Given the description of an element on the screen output the (x, y) to click on. 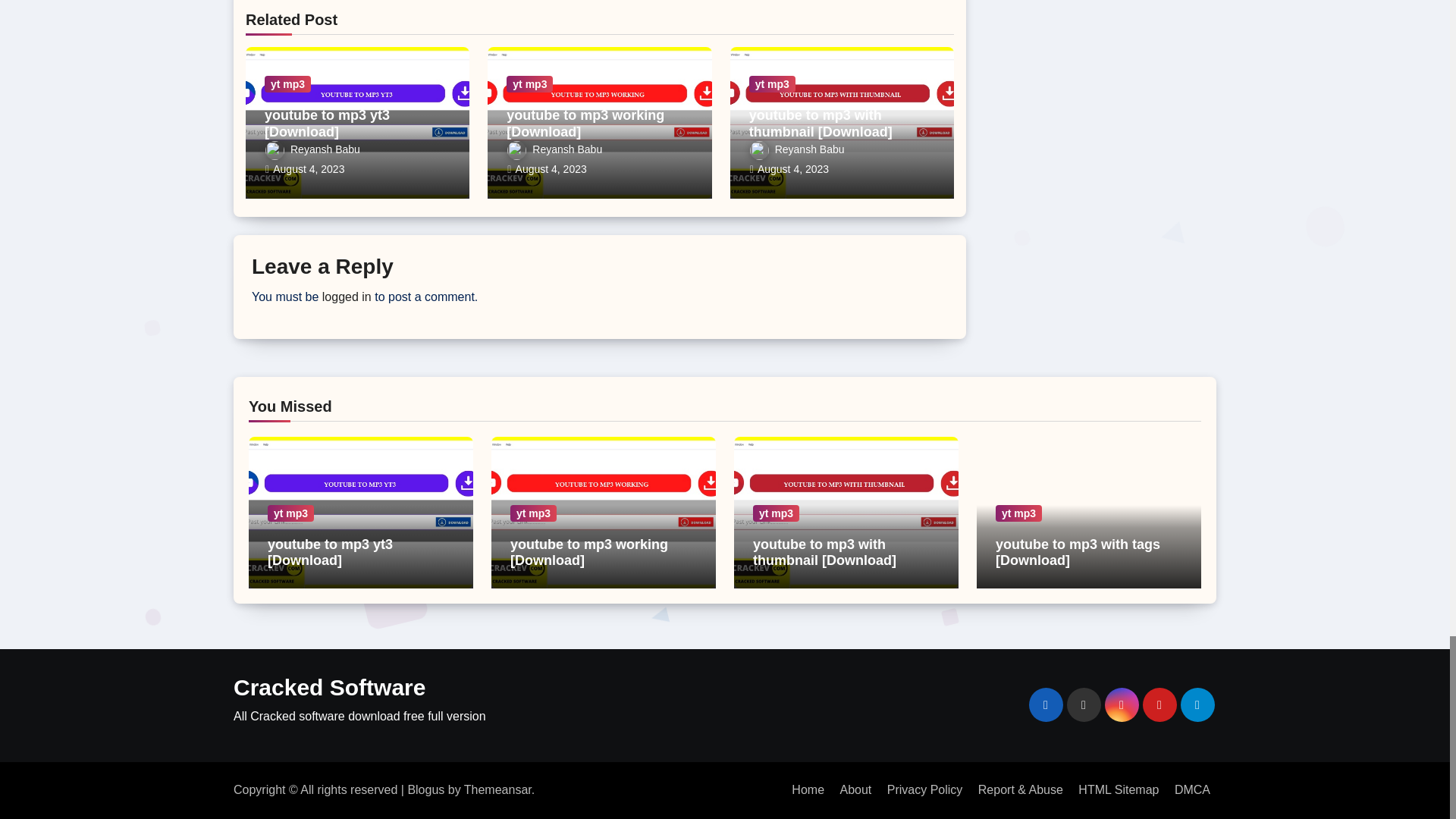
HTML Sitemap (1117, 789)
Home (807, 789)
About (855, 789)
Privacy Policy (924, 789)
